Given the description of an element on the screen output the (x, y) to click on. 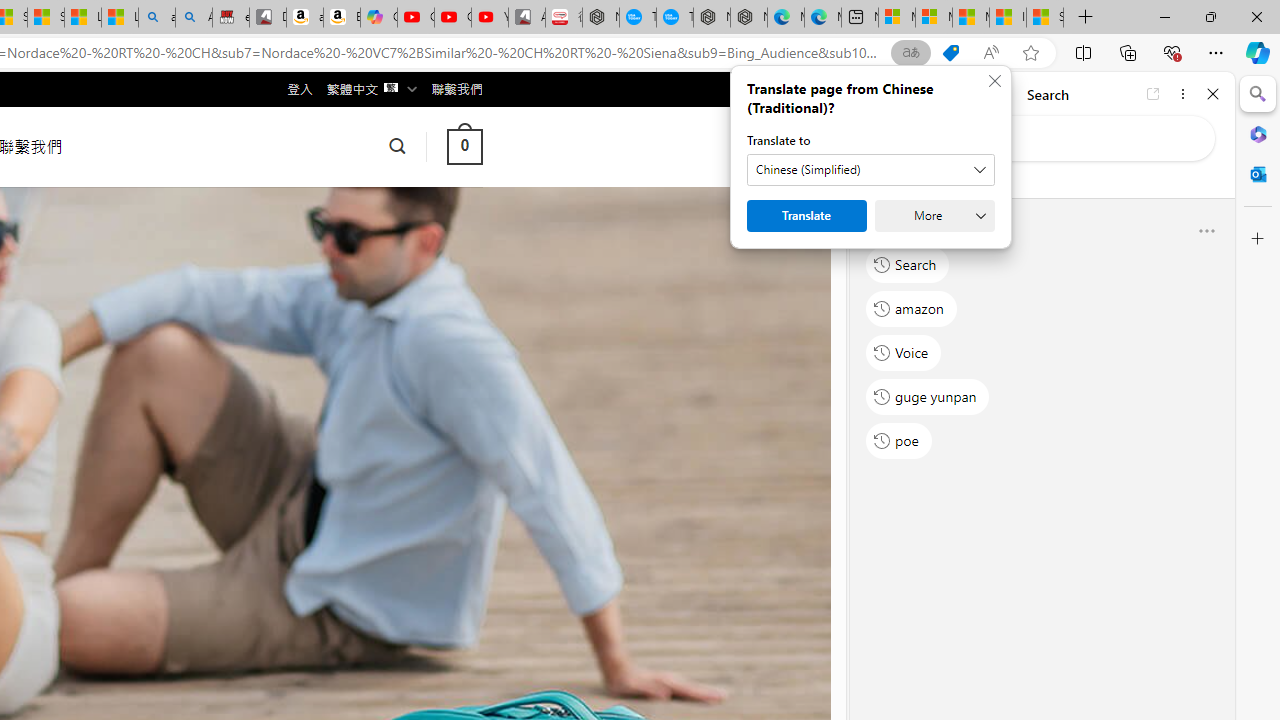
Gloom - YouTube (453, 17)
More (934, 215)
The most popular Google 'how to' searches (674, 17)
Recent searchesSearchamazonVoiceguge yunpanpoe (1042, 342)
Nordace - My Account (600, 17)
Search the web (1051, 137)
